Given the description of an element on the screen output the (x, y) to click on. 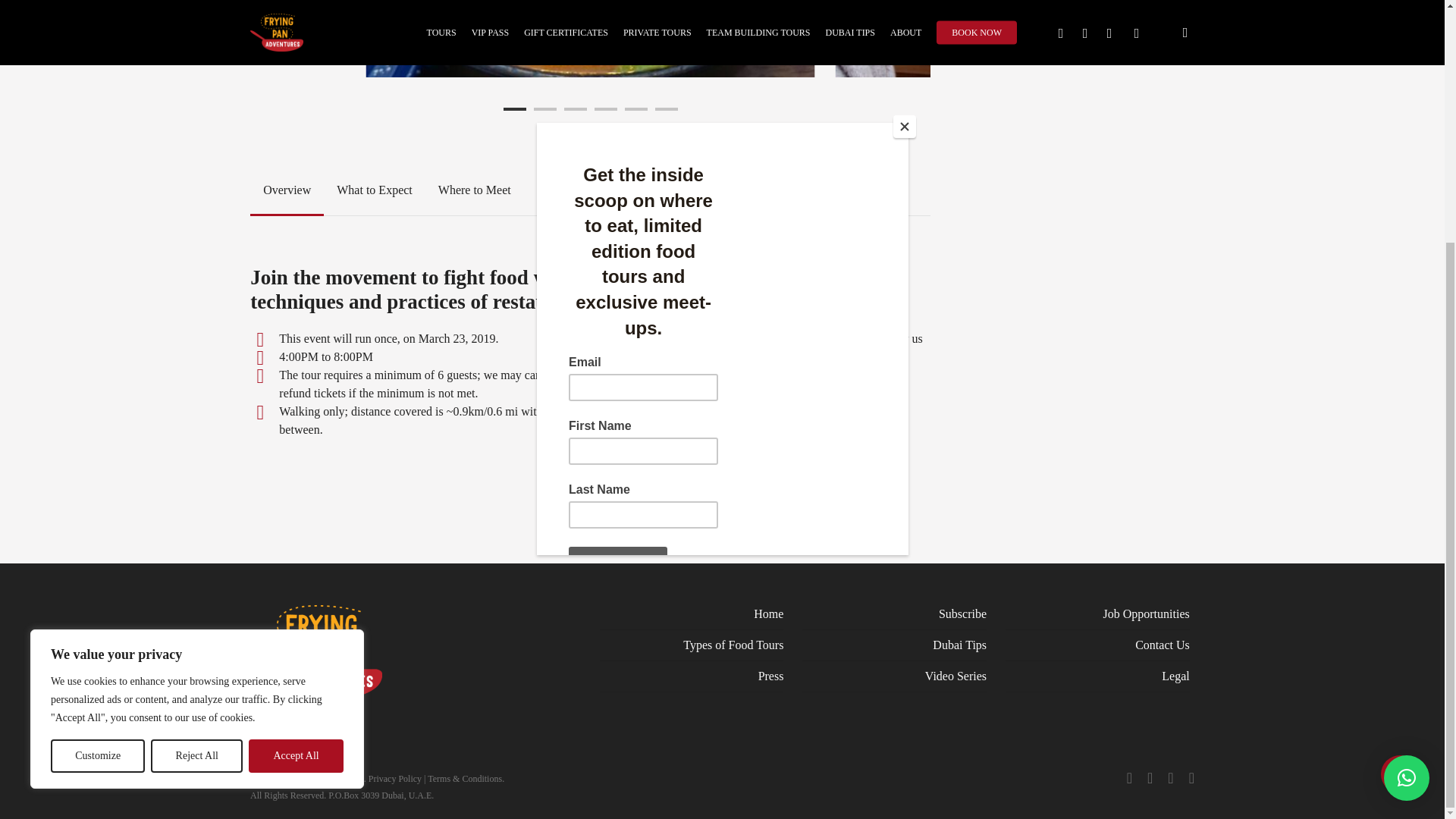
image (1059, 38)
Overview (286, 190)
Customize (97, 419)
image (590, 38)
FAQ (548, 190)
Where to Meet (474, 190)
Accept All (295, 419)
image (173, 38)
What to Expect (374, 190)
Reject All (197, 419)
